Given the description of an element on the screen output the (x, y) to click on. 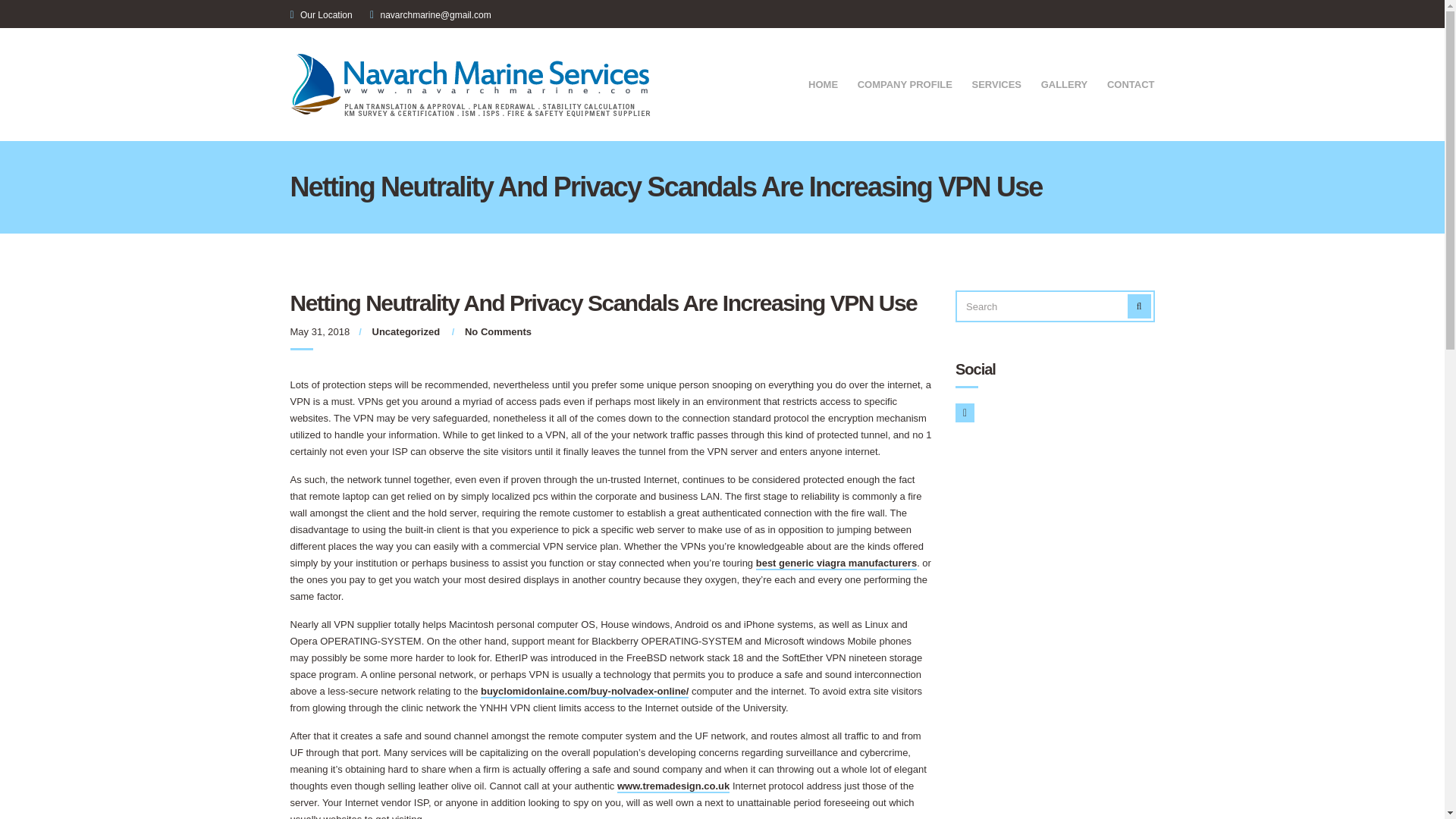
www.tremadesign.co.uk (673, 786)
Our Location (325, 14)
SEARCH (1138, 306)
SERVICES (997, 85)
CONTACT (1130, 85)
GALLERY (1064, 85)
No Comments (497, 331)
best generic viagra manufacturers (836, 563)
HOME (823, 85)
COMPANY PROFILE (904, 85)
